Given the description of an element on the screen output the (x, y) to click on. 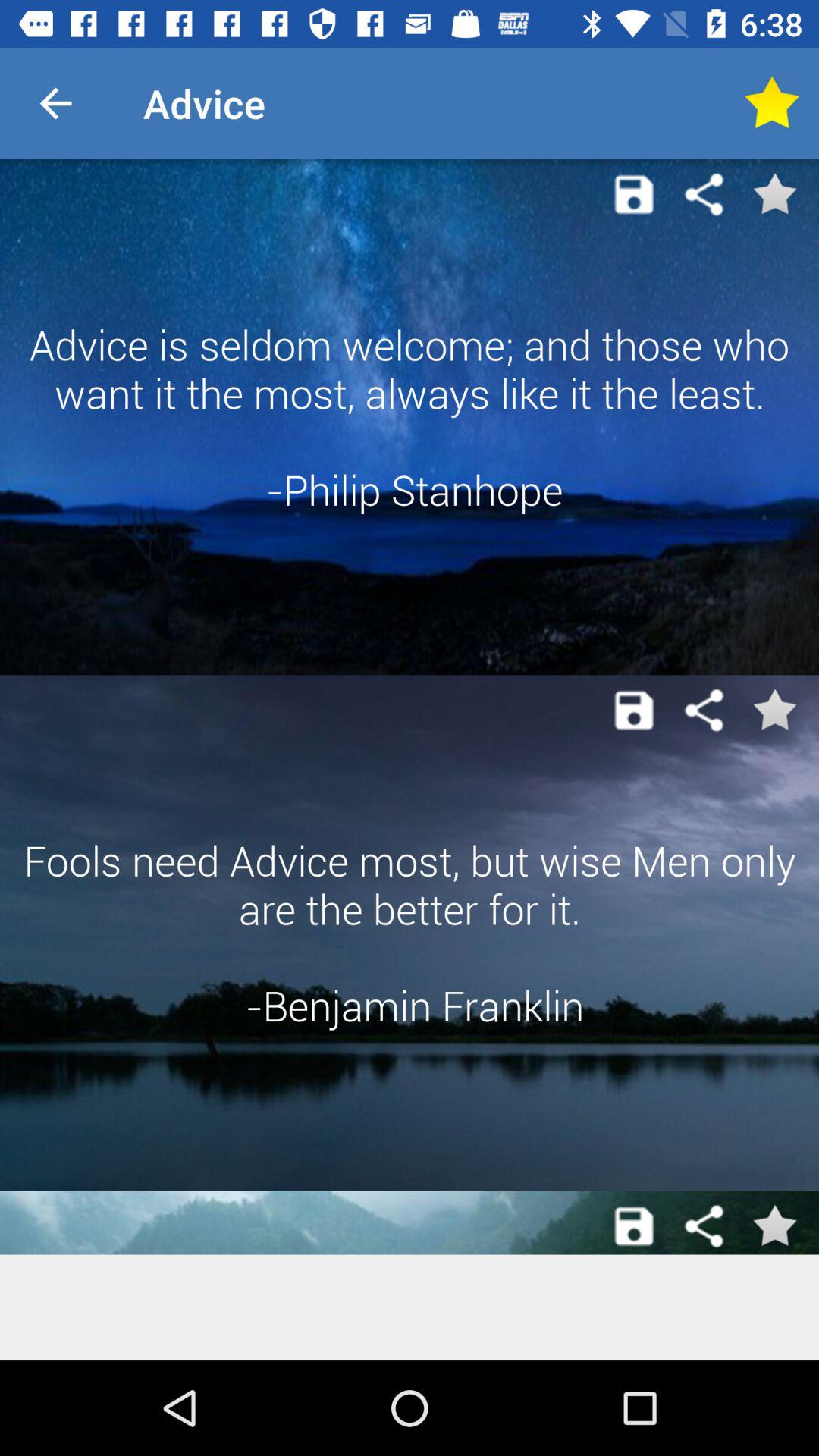
post this picture (634, 194)
